Given the description of an element on the screen output the (x, y) to click on. 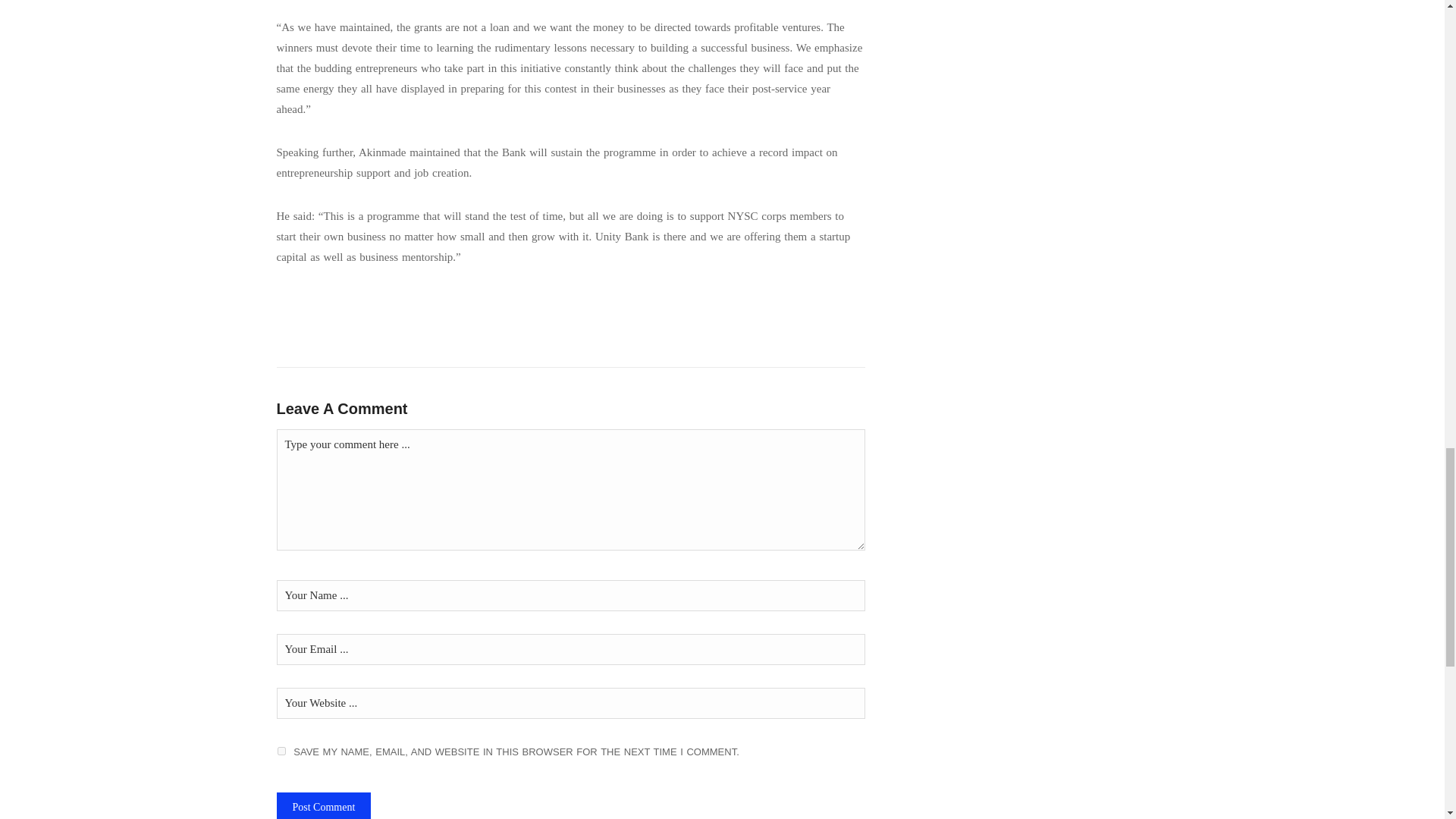
Post Comment (323, 805)
yes (280, 750)
Post Comment (323, 805)
